Given the description of an element on the screen output the (x, y) to click on. 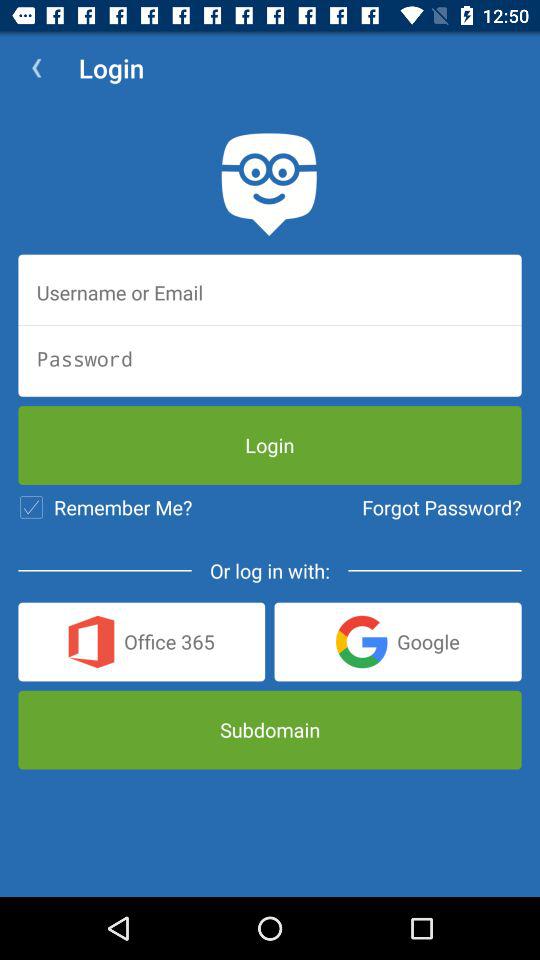
choose subdomain item (269, 729)
